Given the description of an element on the screen output the (x, y) to click on. 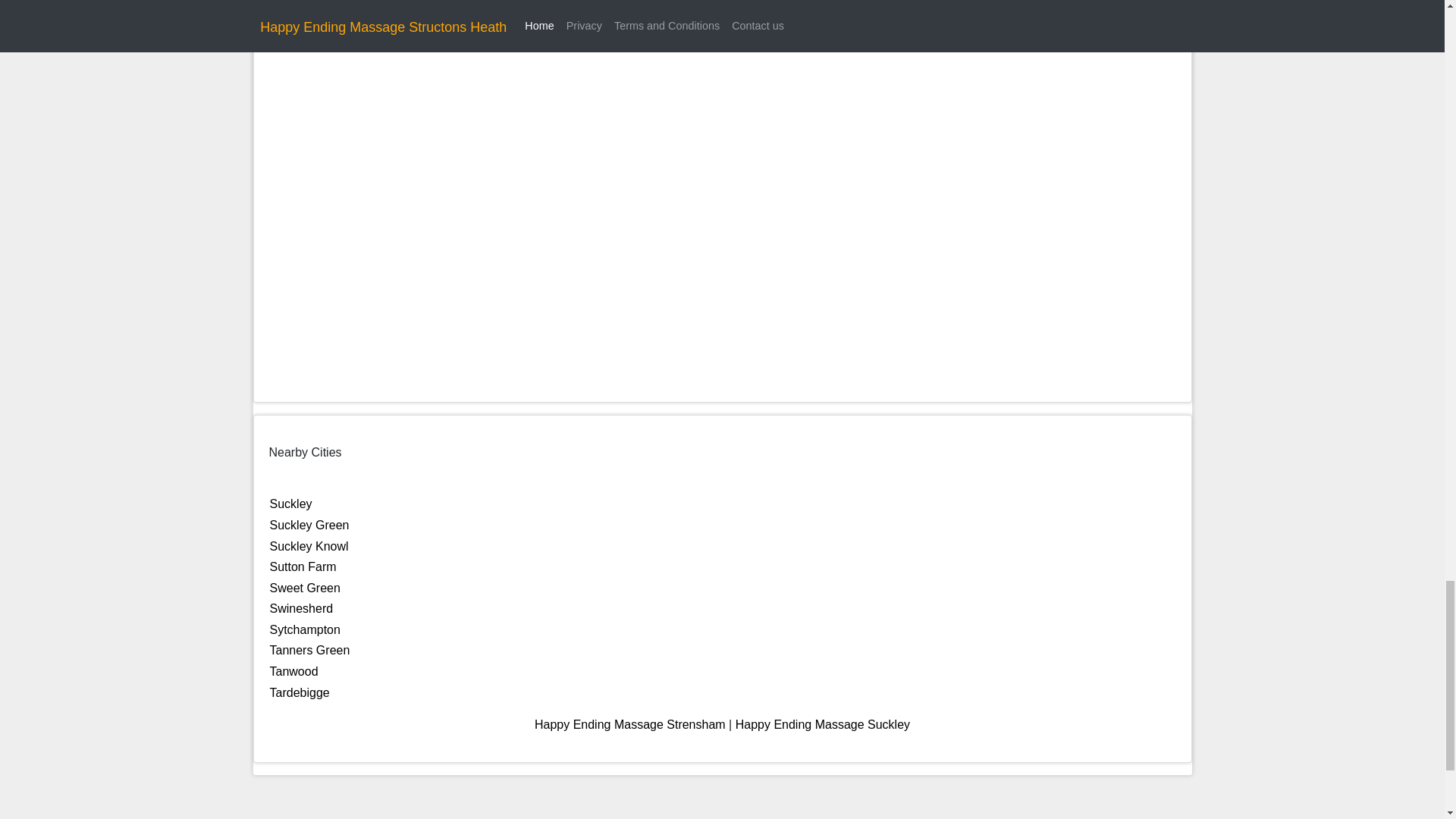
Swinesherd (301, 608)
Sytchampton (304, 629)
Happy Ending Massage Suckley (822, 724)
Tardebigge (299, 692)
Sutton Farm (302, 566)
Happy Ending Massage Strensham (629, 724)
Suckley Green (309, 524)
Tanwood (293, 671)
Suckley (291, 503)
Suckley Knowl (309, 545)
